Given the description of an element on the screen output the (x, y) to click on. 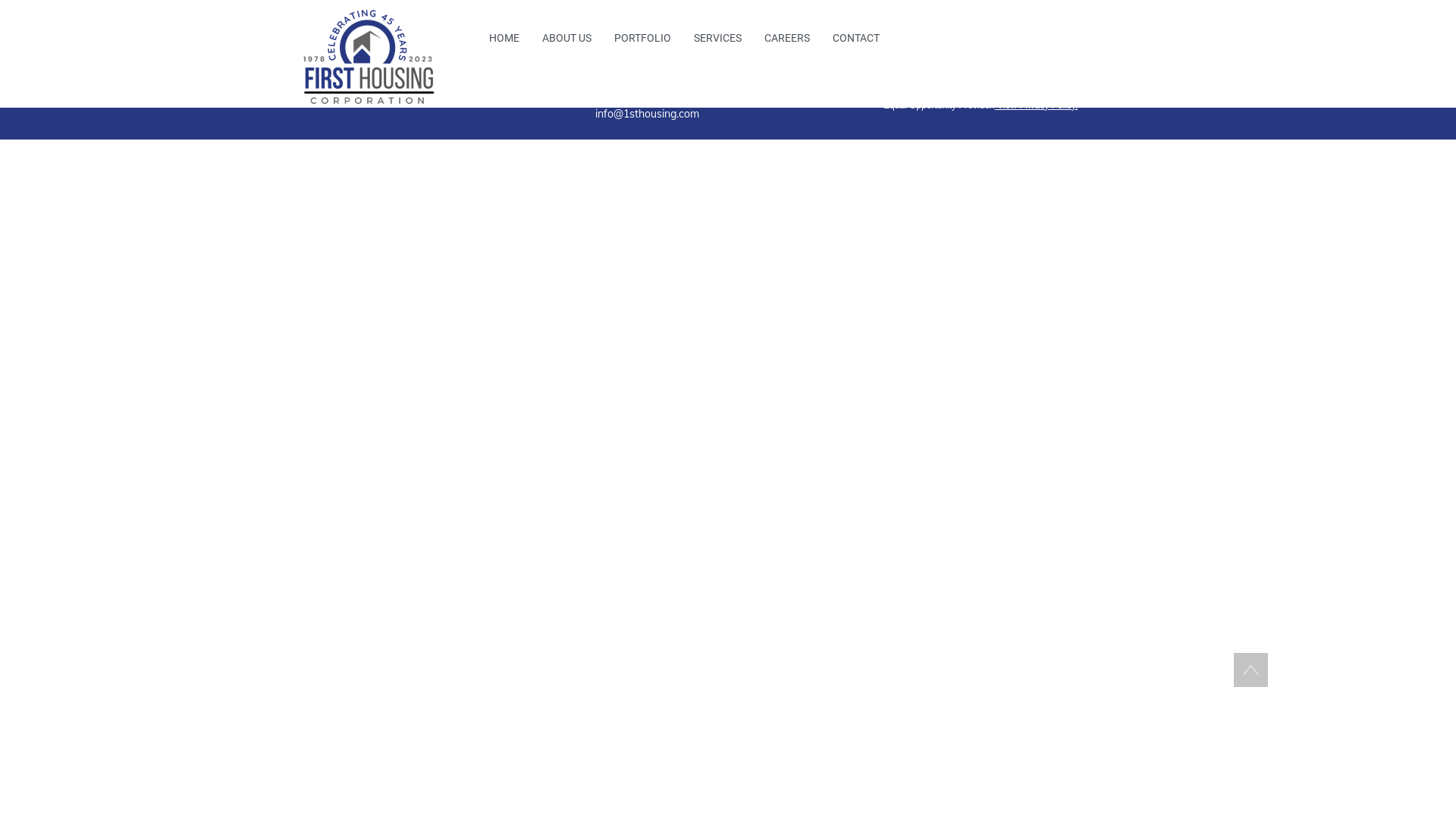
Back to top Element type: text (1250, 669)
PORTFOLIO Element type: text (642, 37)
HOME Element type: text (503, 37)
SERVICES Element type: text (717, 37)
Privacy Policy Element type: text (1047, 104)
ABOUT US Element type: text (566, 37)
CAREERS Element type: text (787, 37)
CONTACT Element type: text (856, 37)
